Given the description of an element on the screen output the (x, y) to click on. 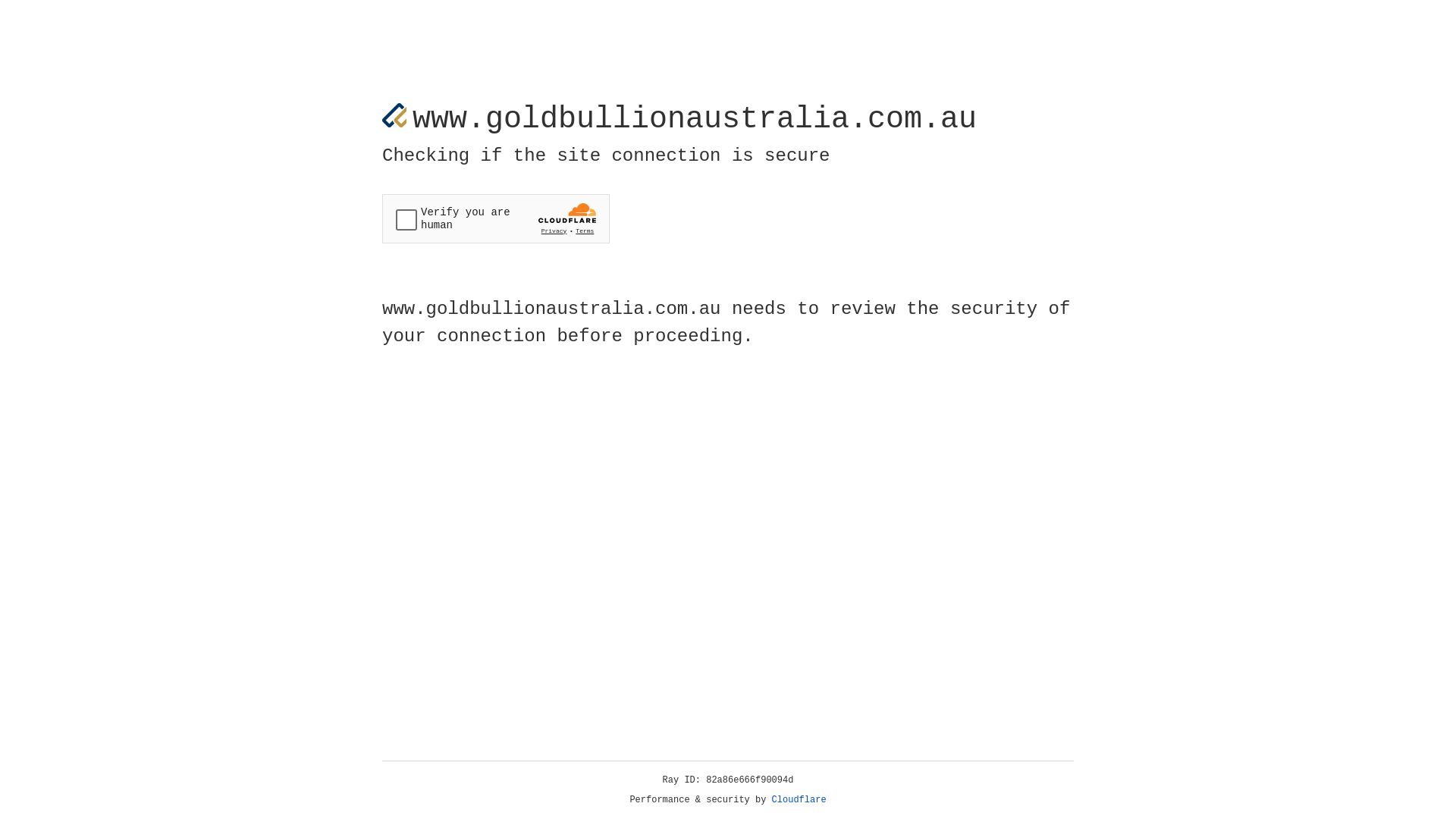
Widget containing a Cloudflare security challenge Element type: hover (495, 218)
Cloudflare Element type: text (798, 799)
